Given the description of an element on the screen output the (x, y) to click on. 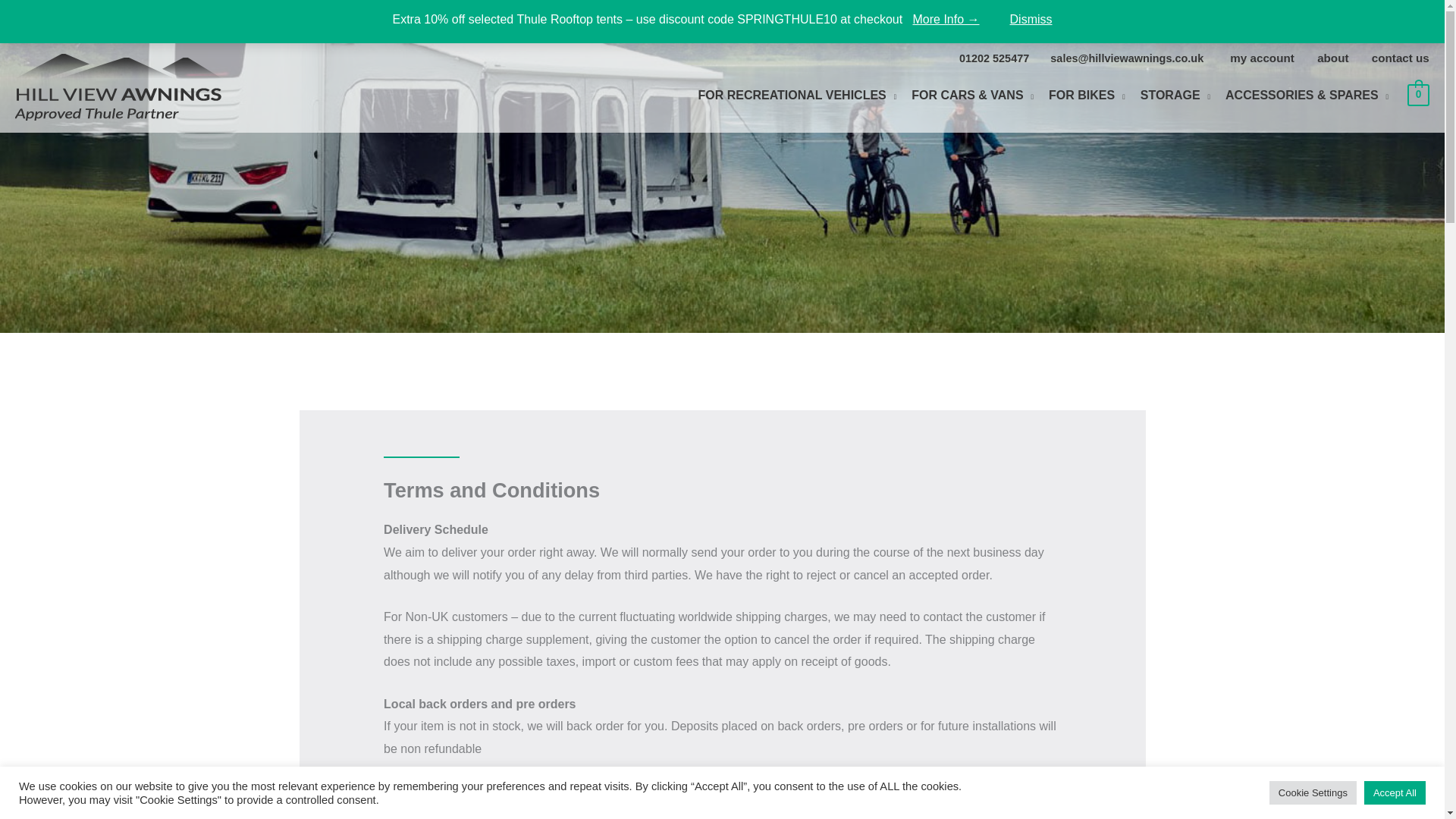
STORAGE (1174, 97)
contact us (1400, 58)
FOR RECREATIONAL VEHICLES (797, 97)
my account (1262, 58)
FOR BIKES (1086, 97)
about (1332, 58)
